Given the description of an element on the screen output the (x, y) to click on. 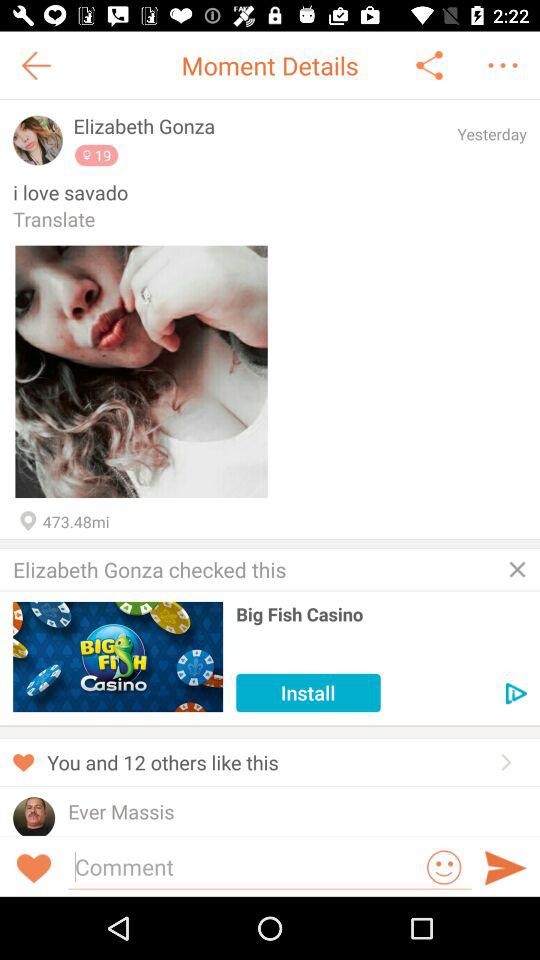
remove advertisement (517, 569)
